Given the description of an element on the screen output the (x, y) to click on. 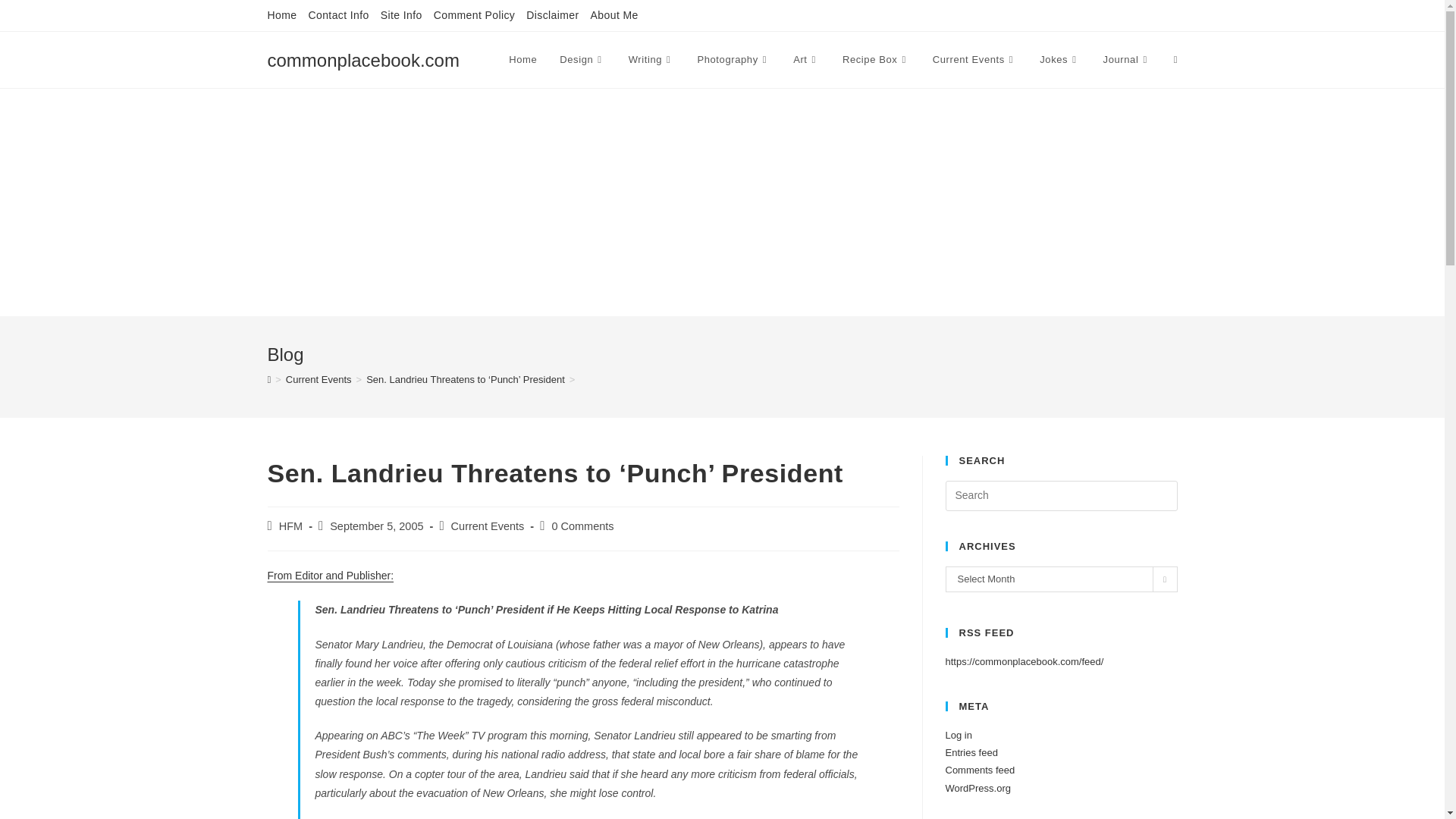
Writing (651, 59)
Photography (733, 59)
Home (281, 15)
About Me (615, 15)
Disclaimer (551, 15)
Contact Info (337, 15)
Comment Policy (474, 15)
Home (522, 59)
Site Info (401, 15)
